Given the description of an element on the screen output the (x, y) to click on. 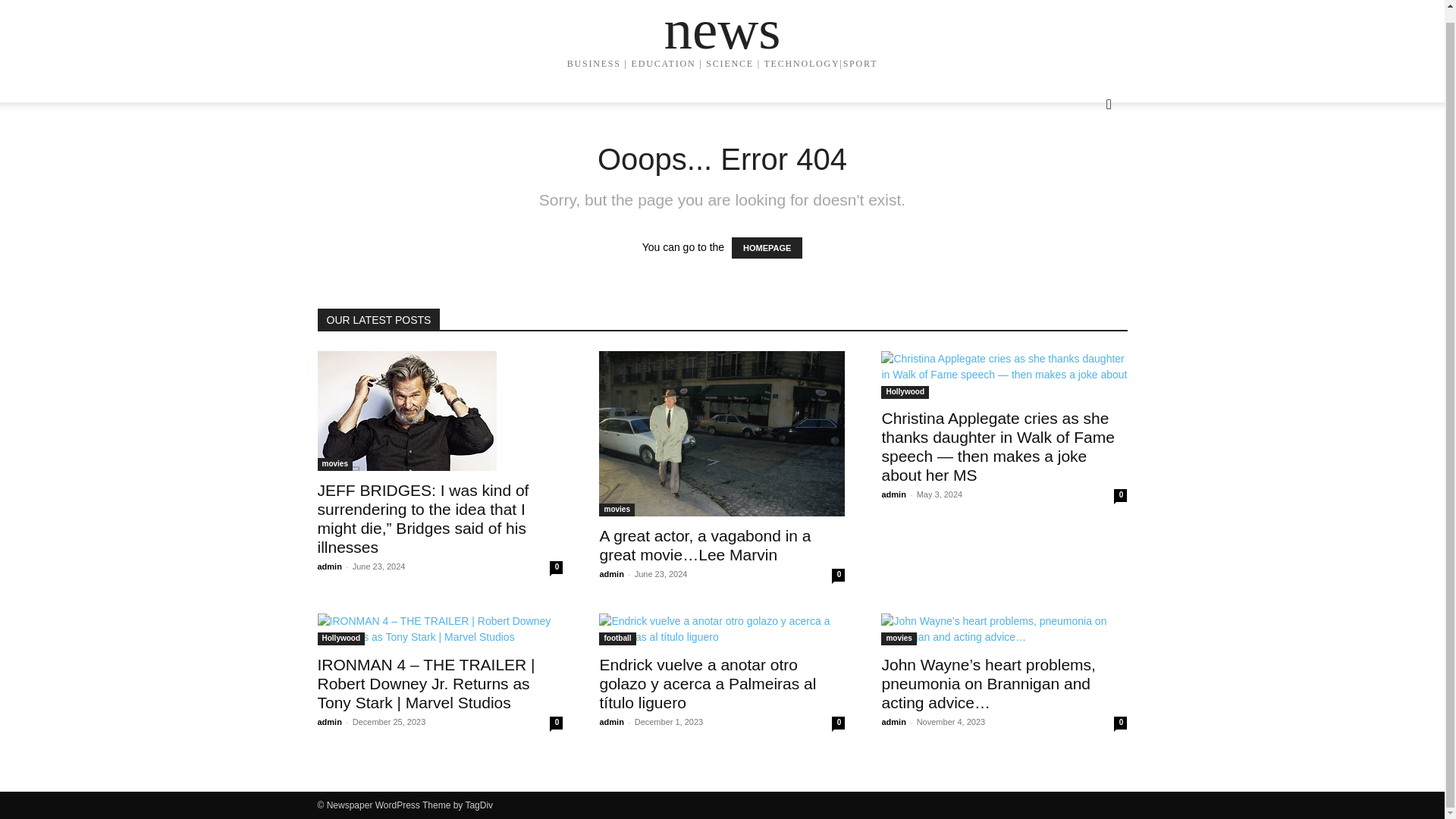
Hollywood (341, 638)
admin (892, 721)
admin (610, 721)
admin (328, 565)
0 (556, 567)
admin (328, 721)
0 (1119, 495)
Search (1085, 165)
movies (334, 463)
admin (610, 573)
